Given the description of an element on the screen output the (x, y) to click on. 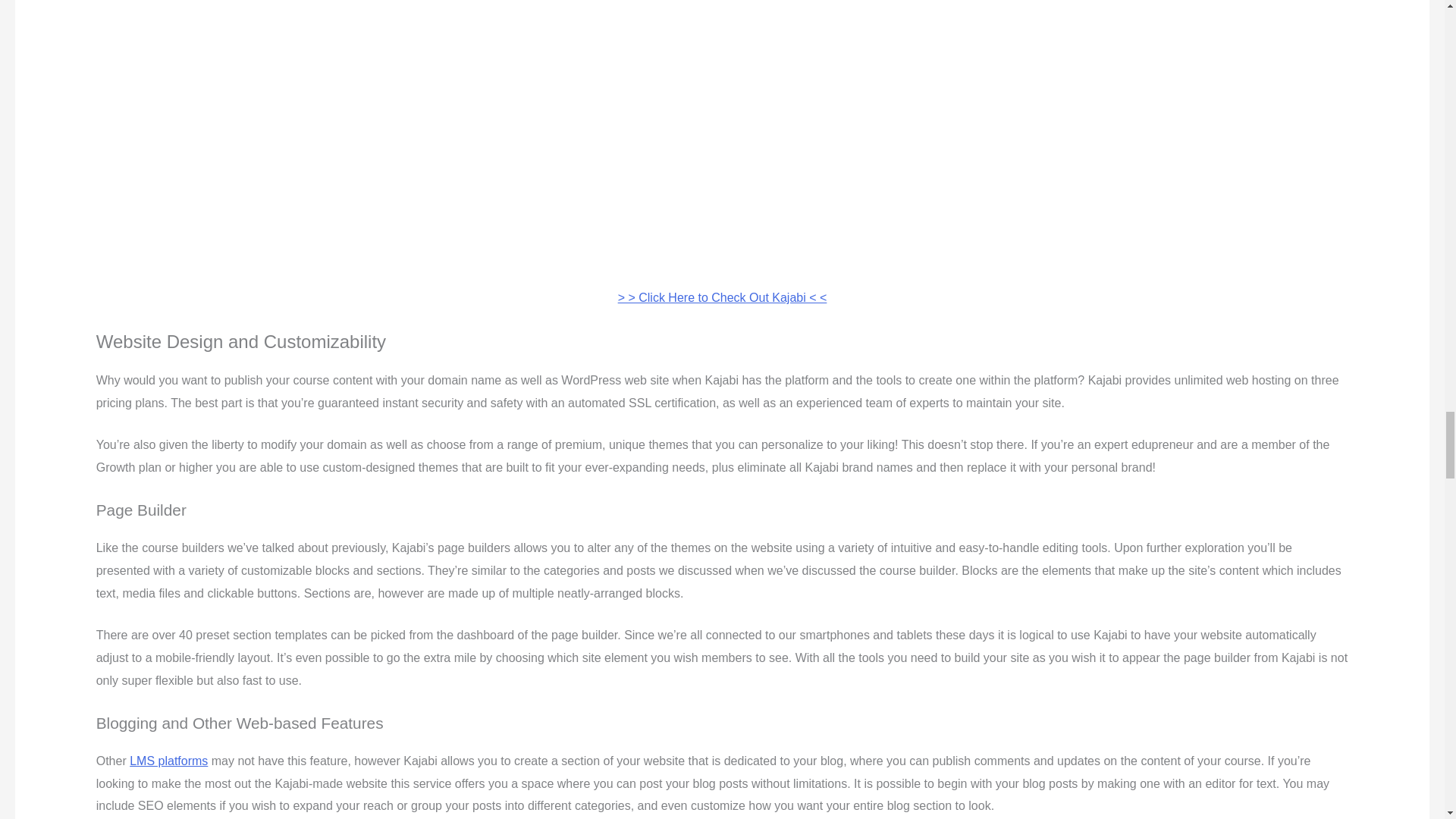
LMS platforms (168, 760)
